Given the description of an element on the screen output the (x, y) to click on. 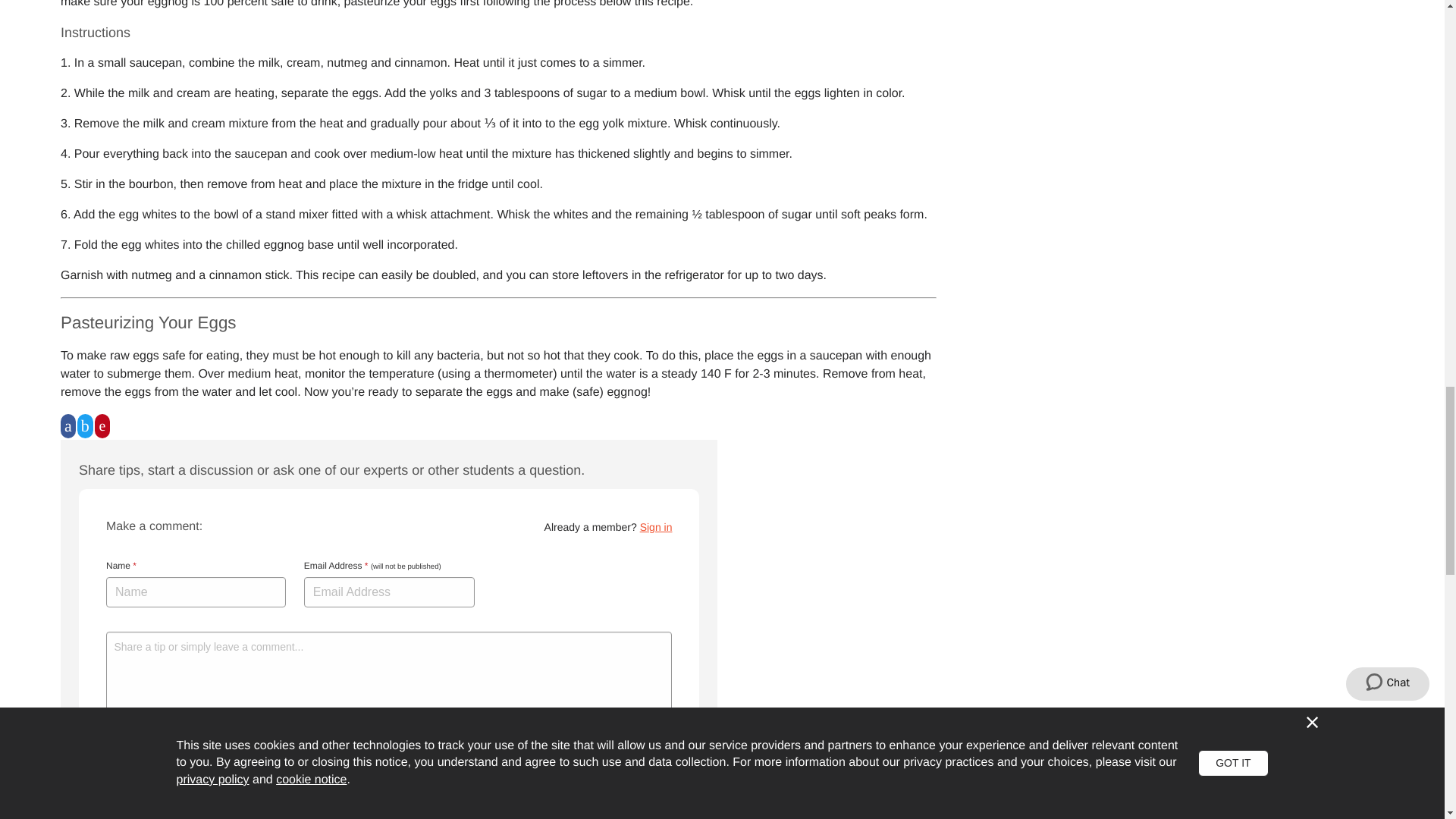
Submit (141, 750)
Sign in (656, 526)
Submit (141, 750)
